Given the description of an element on the screen output the (x, y) to click on. 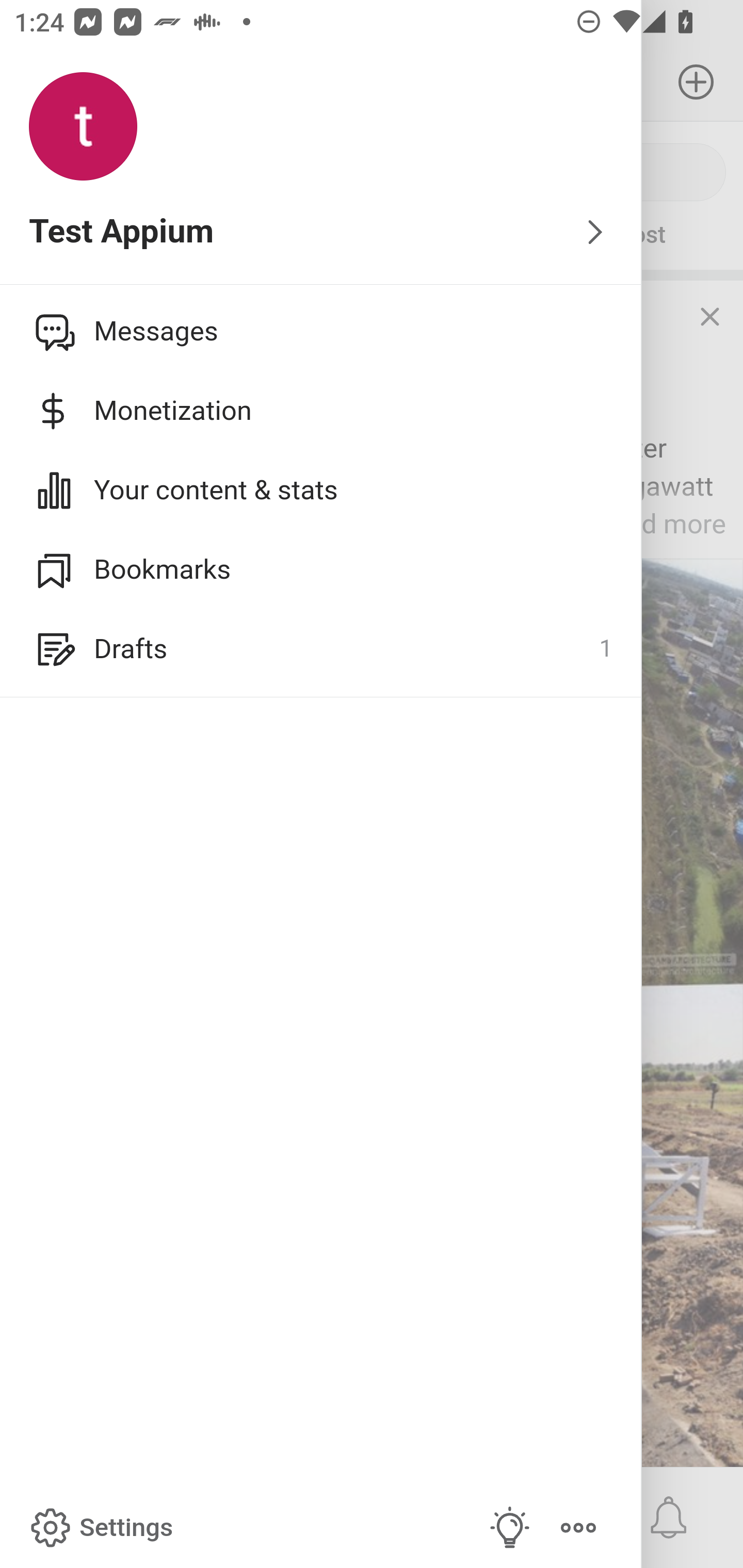
Profile photo for Test Appium (82, 126)
Test Appium (321, 232)
Messages (321, 330)
Profile photo for Priyan Fezzaro (50, 330)
Monetization (321, 410)
Your content & stats (321, 489)
Bookmarks (321, 568)
Drafts 1 Drafts 1 (321, 648)
1 (605, 648)
Settings (99, 1527)
More (578, 1527)
